Given the description of an element on the screen output the (x, y) to click on. 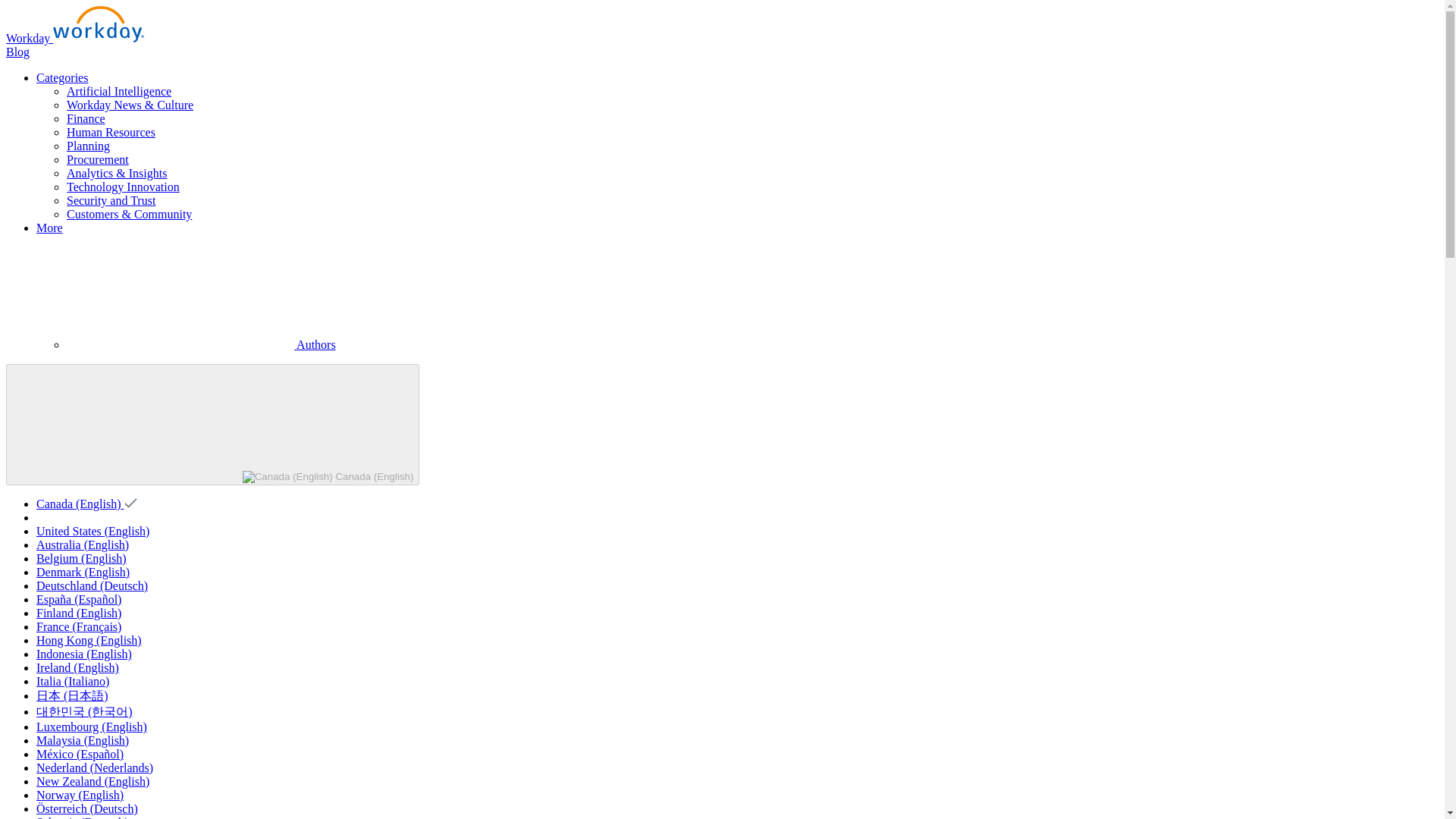
Human Resources (110, 132)
Security and Trust (110, 200)
Workday (74, 38)
Technology Innovation (122, 186)
Blog (17, 51)
Workday (74, 38)
Blog (17, 51)
Categories (61, 77)
Change Language (212, 424)
Artificial Intelligence (118, 91)
Planning (88, 145)
Procurement (97, 159)
Authors (201, 344)
Finance (85, 118)
More (49, 227)
